Given the description of an element on the screen output the (x, y) to click on. 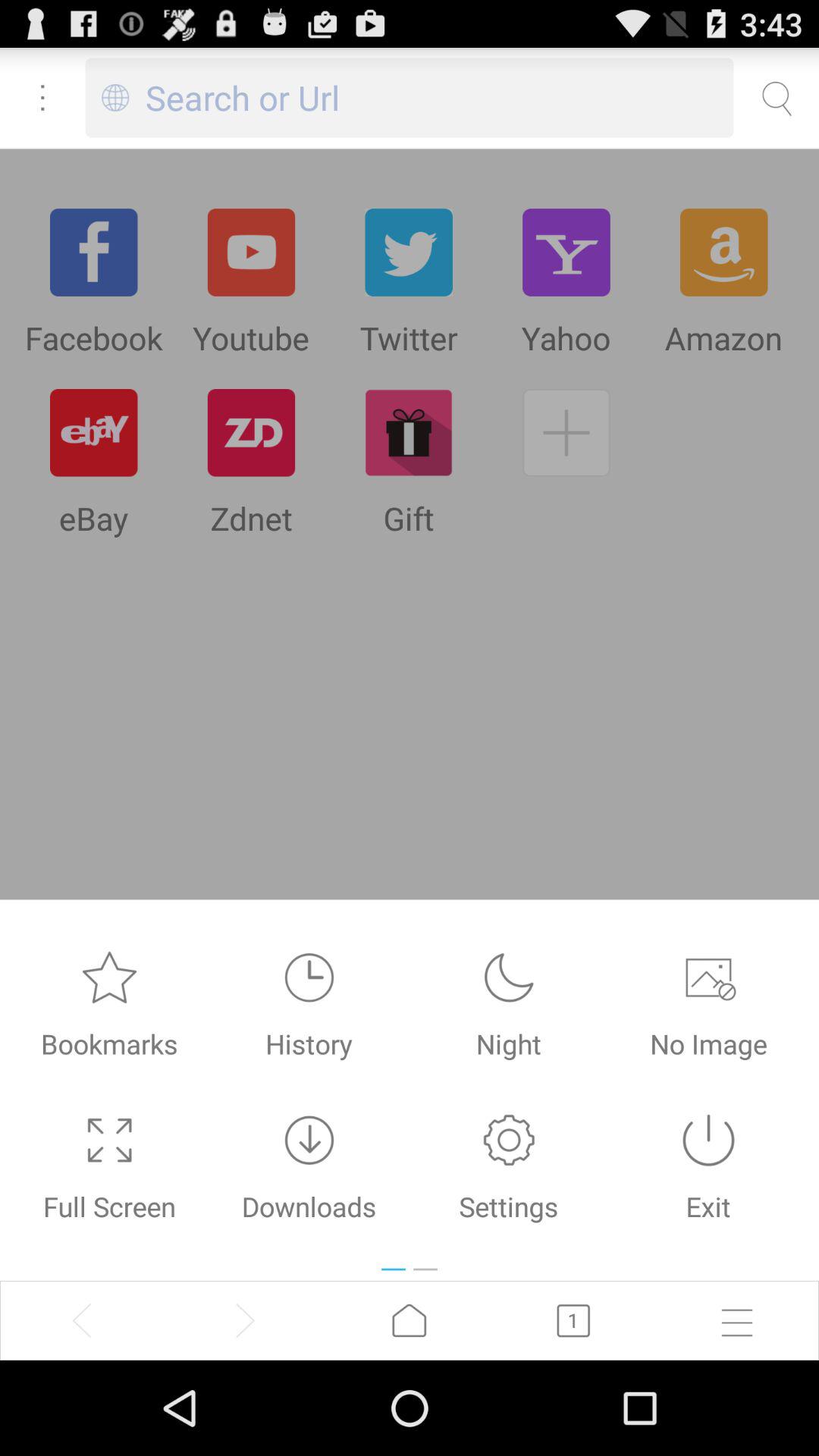
jump to the search or url item (439, 97)
